Given the description of an element on the screen output the (x, y) to click on. 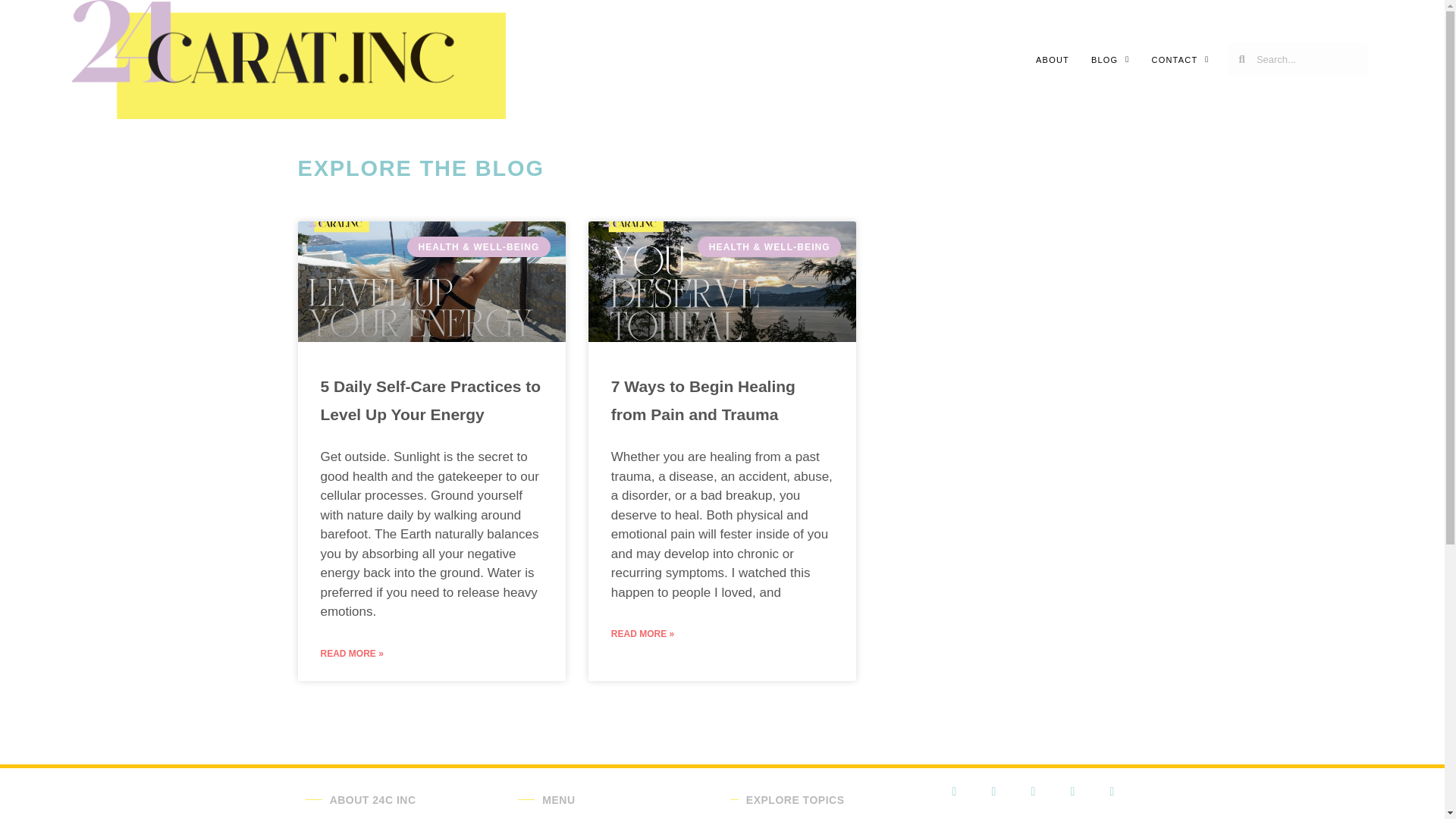
CONTACT (1180, 59)
BLOG (1109, 59)
ABOUT (1051, 59)
Search (1306, 59)
